Given the description of an element on the screen output the (x, y) to click on. 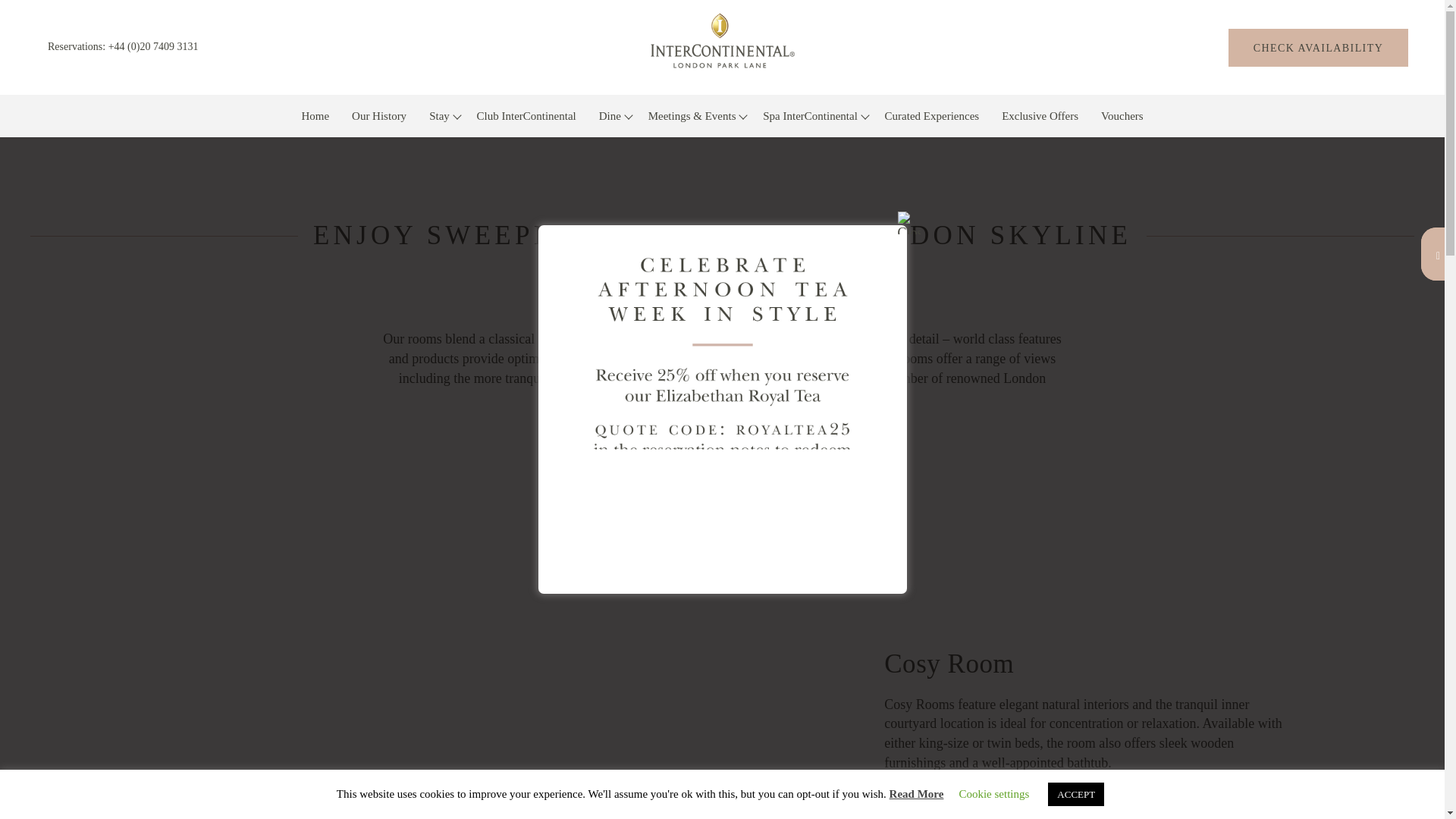
CHECK AVAILABILITY (1317, 47)
Club InterContinental (526, 116)
Our History (379, 116)
Our History (379, 116)
Book now (1317, 47)
